Given the description of an element on the screen output the (x, y) to click on. 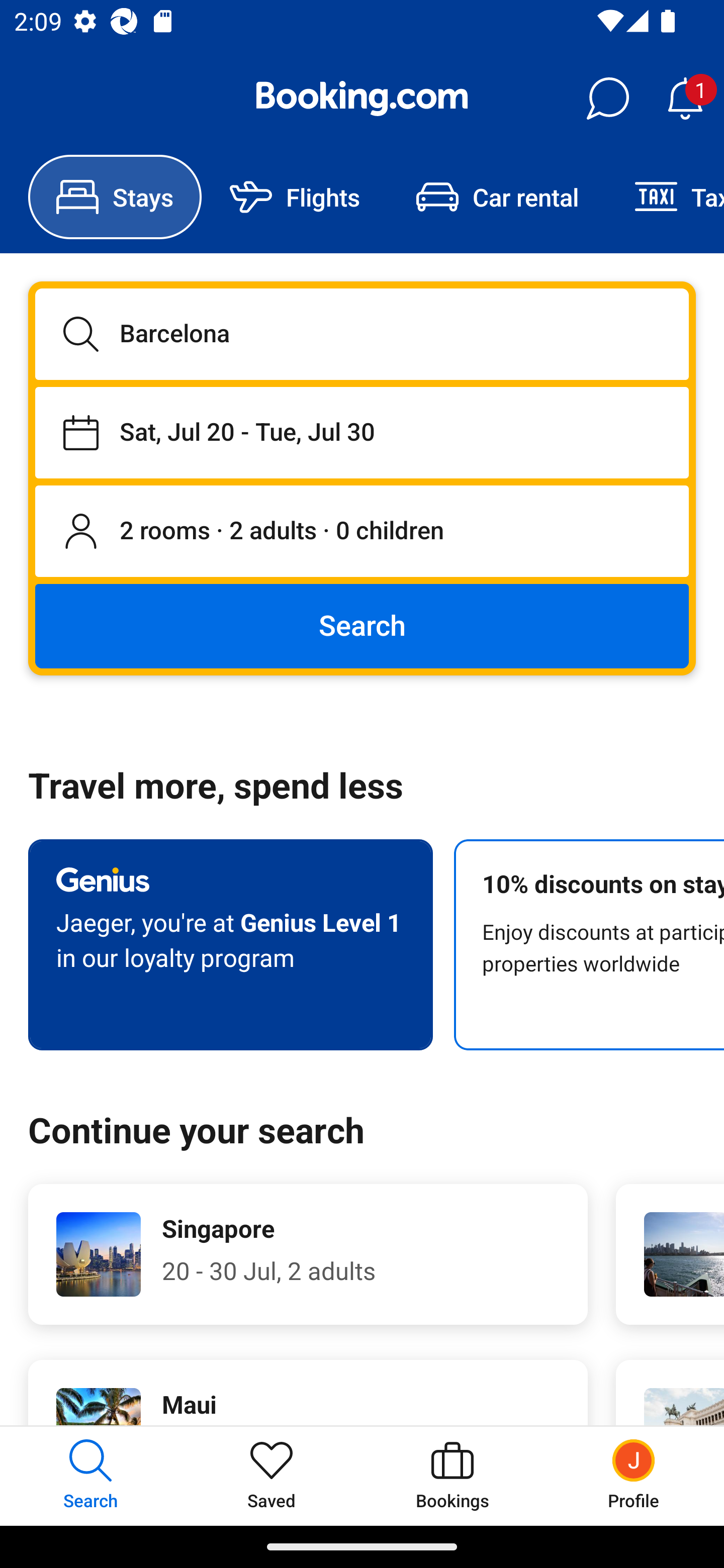
Messages (607, 98)
Notifications (685, 98)
Stays (114, 197)
Flights (294, 197)
Car rental (497, 197)
Taxi (665, 197)
Barcelona (361, 333)
Staying from Sat, Jul 20 until Tue, Jul 30 (361, 432)
2 rooms, 2 adults, 0 children (361, 531)
Search (361, 625)
Singapore 20 - 30 Jul, 2 adults (307, 1253)
Saved (271, 1475)
Bookings (452, 1475)
Profile (633, 1475)
